Given the description of an element on the screen output the (x, y) to click on. 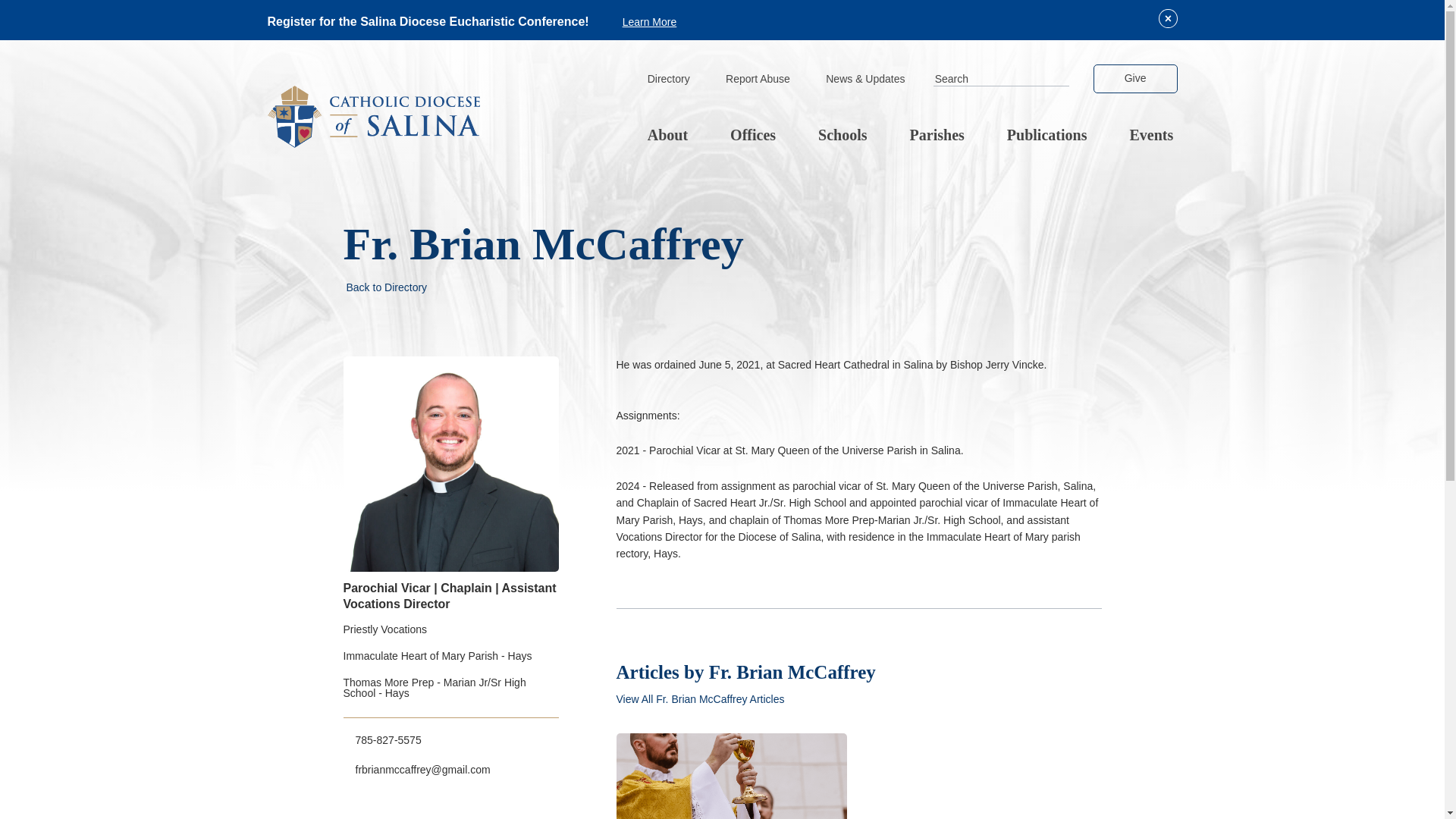
Learn More (650, 21)
Directory (668, 79)
Report Abuse (757, 79)
Offices (752, 135)
About (667, 135)
Give (1135, 78)
